Given the description of an element on the screen output the (x, y) to click on. 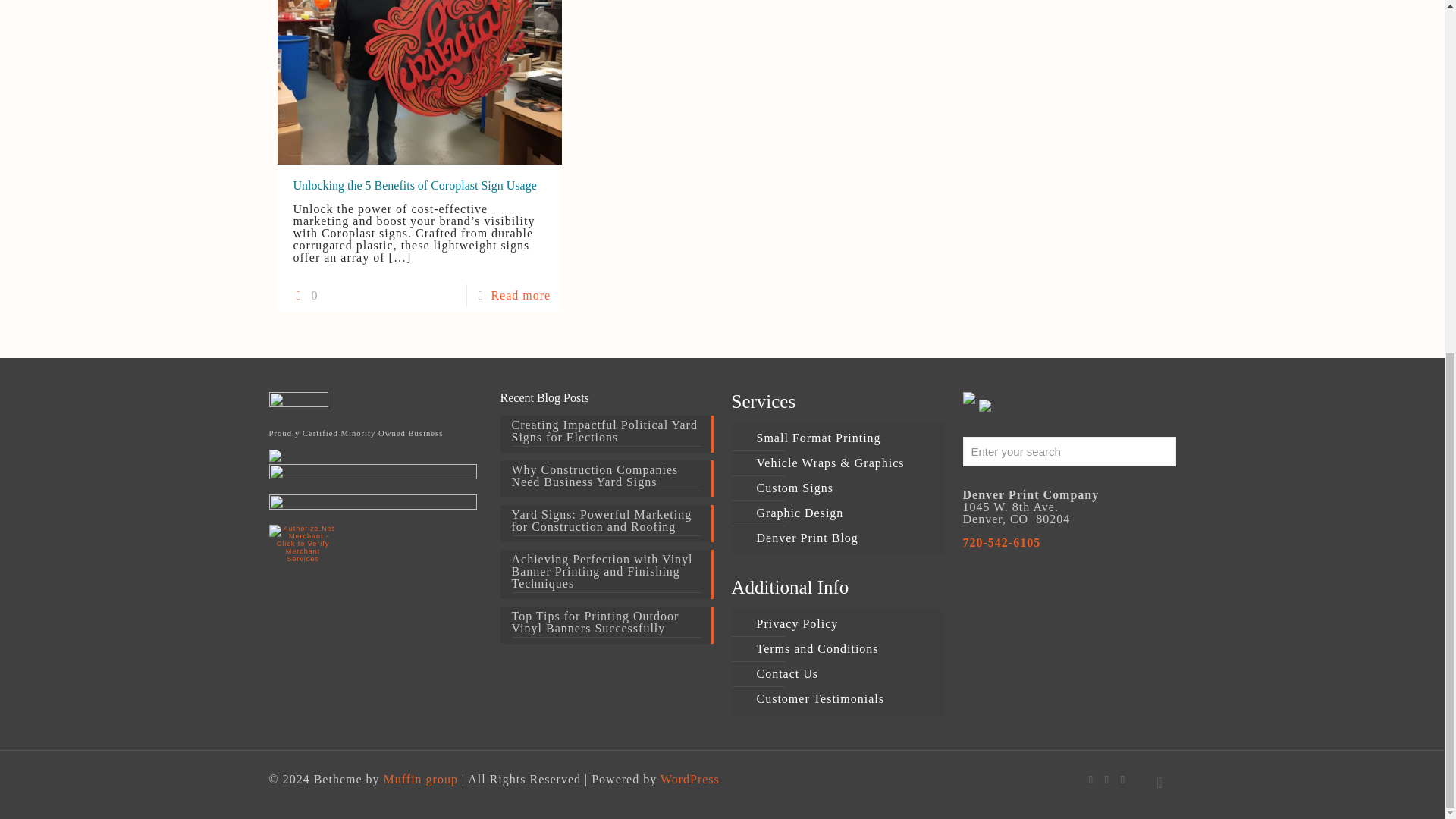
Instagram (1123, 779)
YouTube (1106, 779)
Facebook (1091, 779)
